Given the description of an element on the screen output the (x, y) to click on. 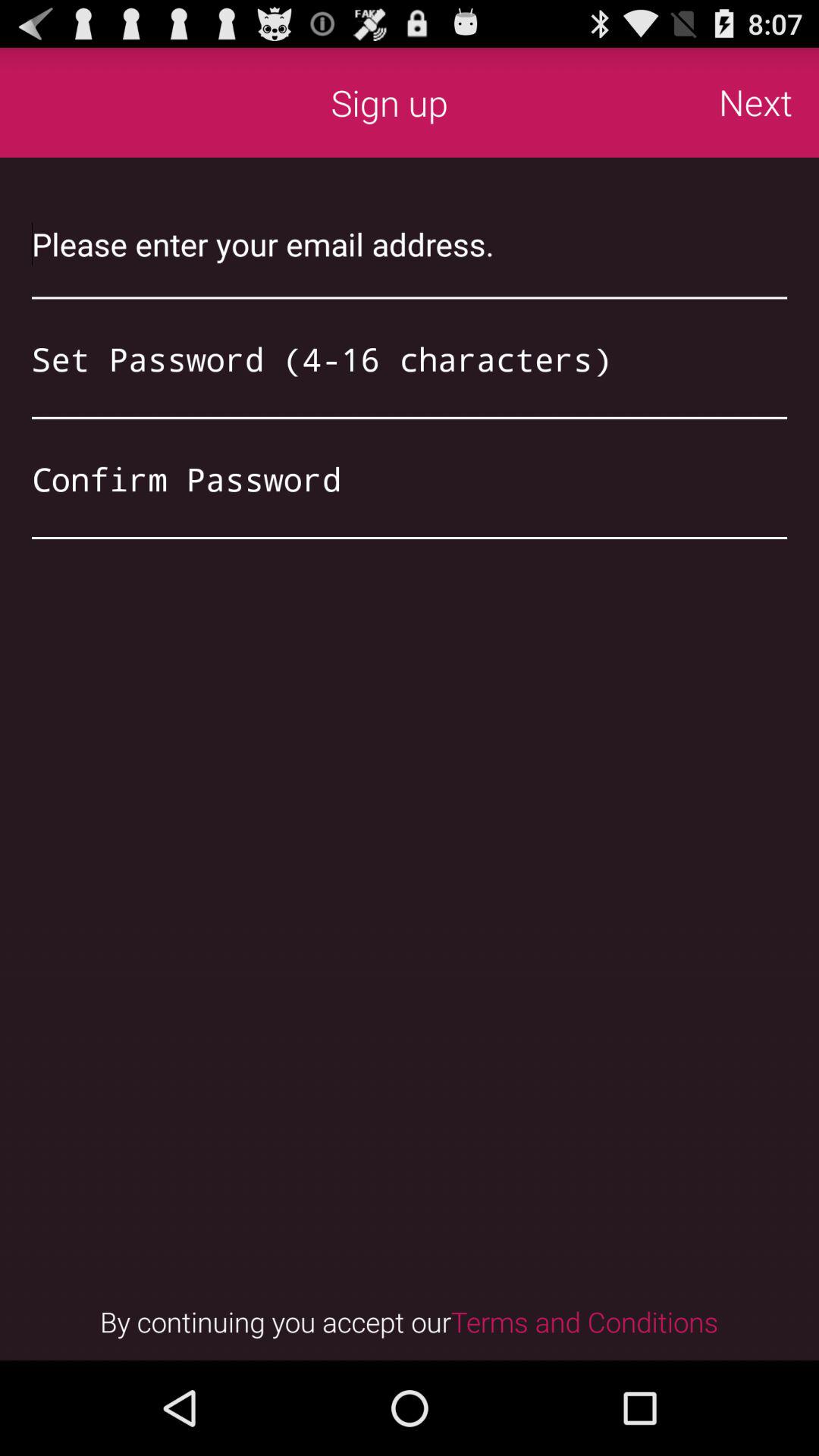
add adress (409, 243)
